Given the description of an element on the screen output the (x, y) to click on. 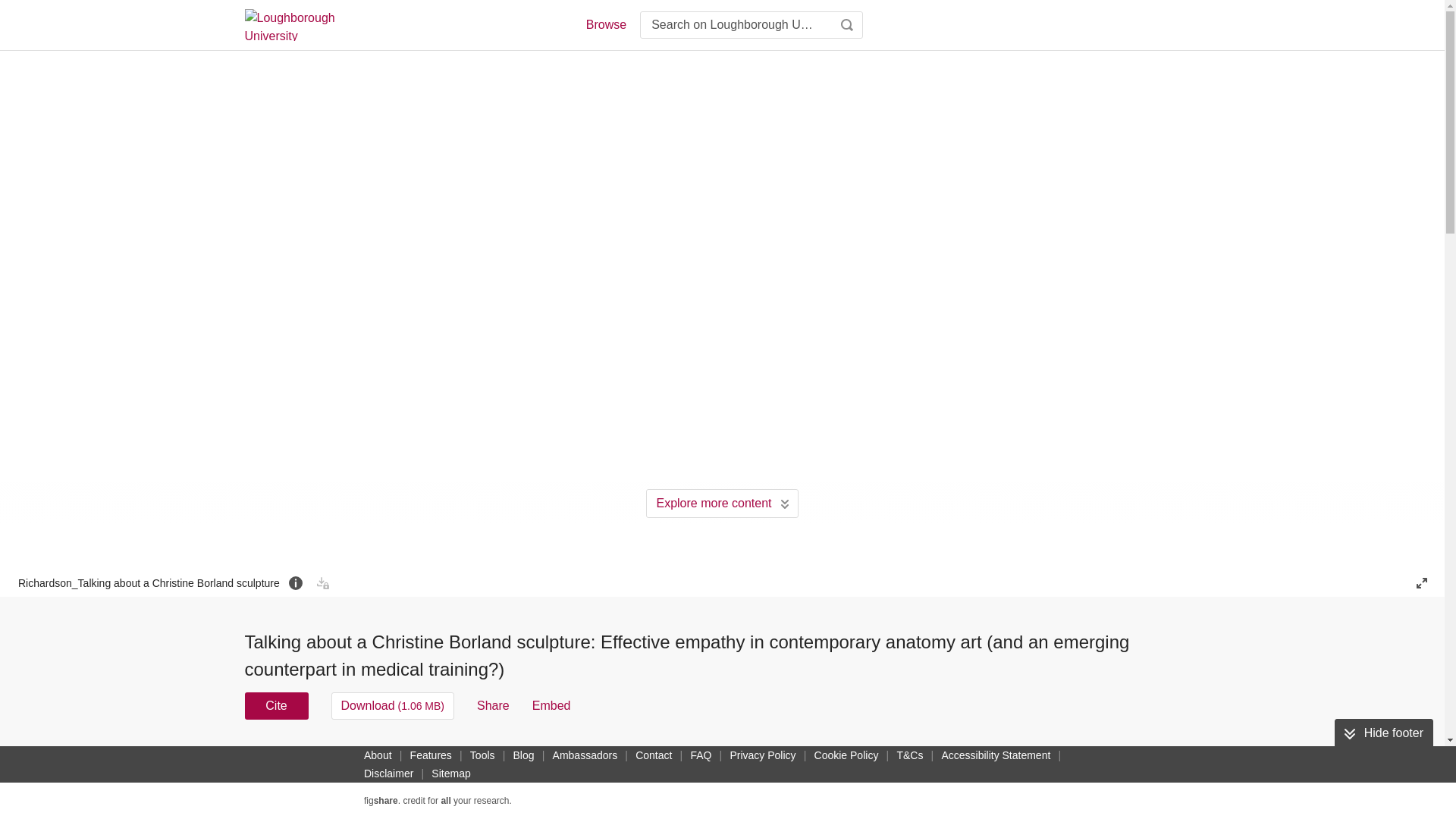
USAGE METRICS (976, 759)
Tools (482, 755)
Cite (275, 705)
Ambassadors (585, 755)
Craig Richardson (630, 755)
Hide footer (1383, 733)
Features (431, 755)
Share (493, 705)
Browse (605, 24)
Explore more content (721, 502)
Embed (551, 705)
Blog (523, 755)
About (377, 755)
